Given the description of an element on the screen output the (x, y) to click on. 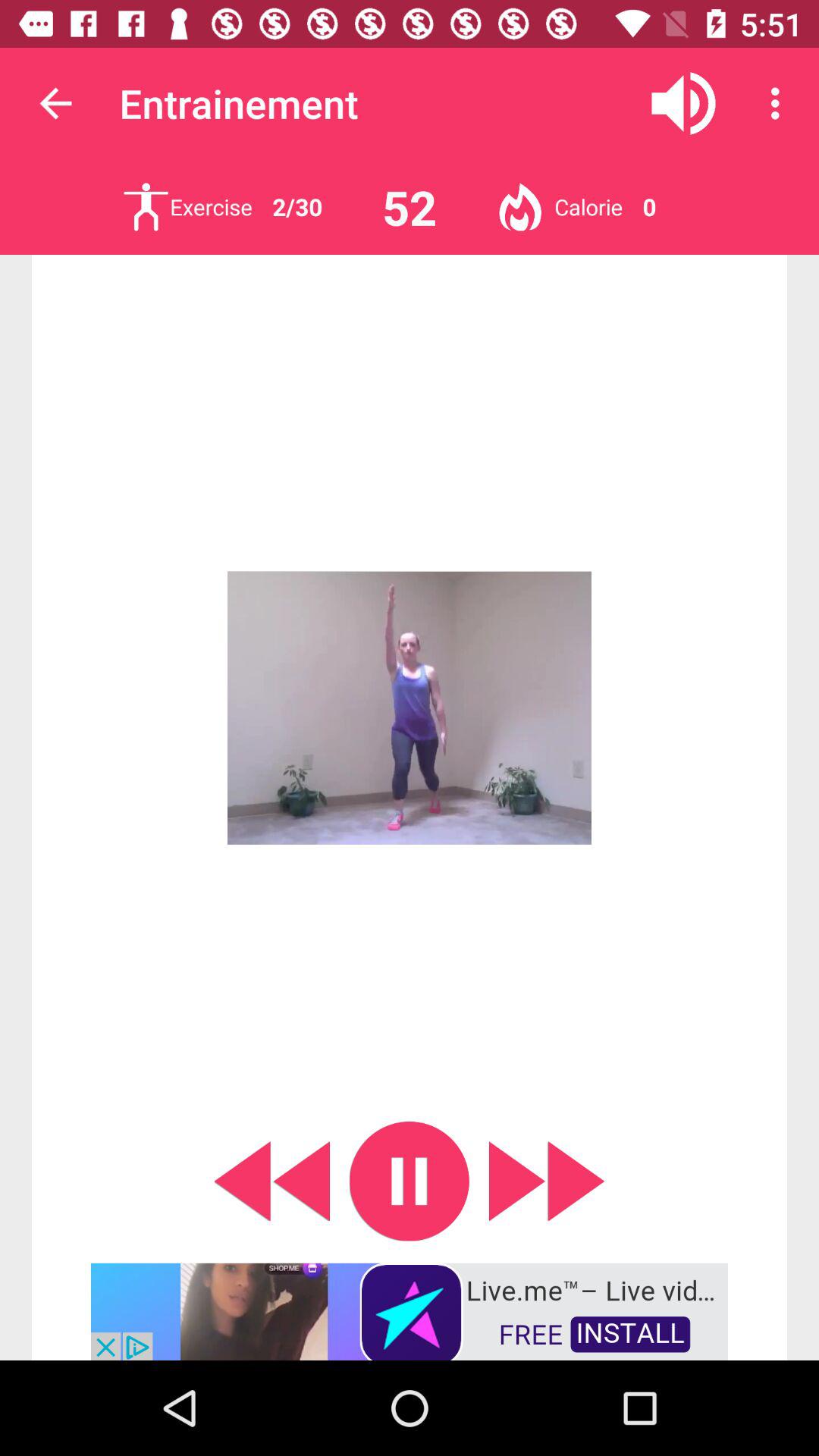
play video (409, 1181)
